Given the description of an element on the screen output the (x, y) to click on. 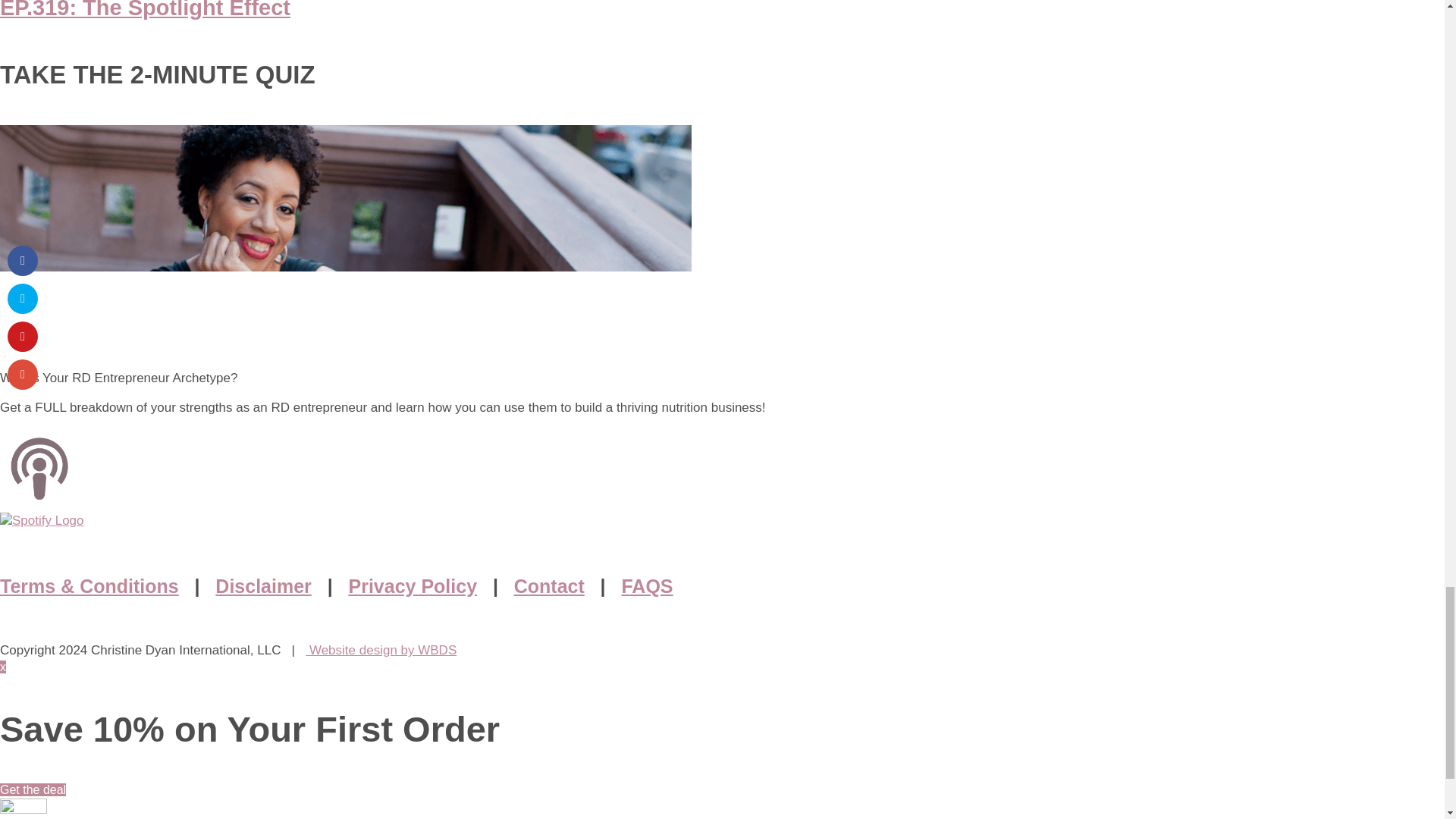
Website design by WBDS (381, 649)
EP.319: The Spotlight Effect (144, 9)
FAQS (646, 586)
Get the deal (32, 789)
Privacy Policy (412, 586)
Disclaimer (263, 586)
Spotify (42, 520)
Contact (549, 586)
